Given the description of an element on the screen output the (x, y) to click on. 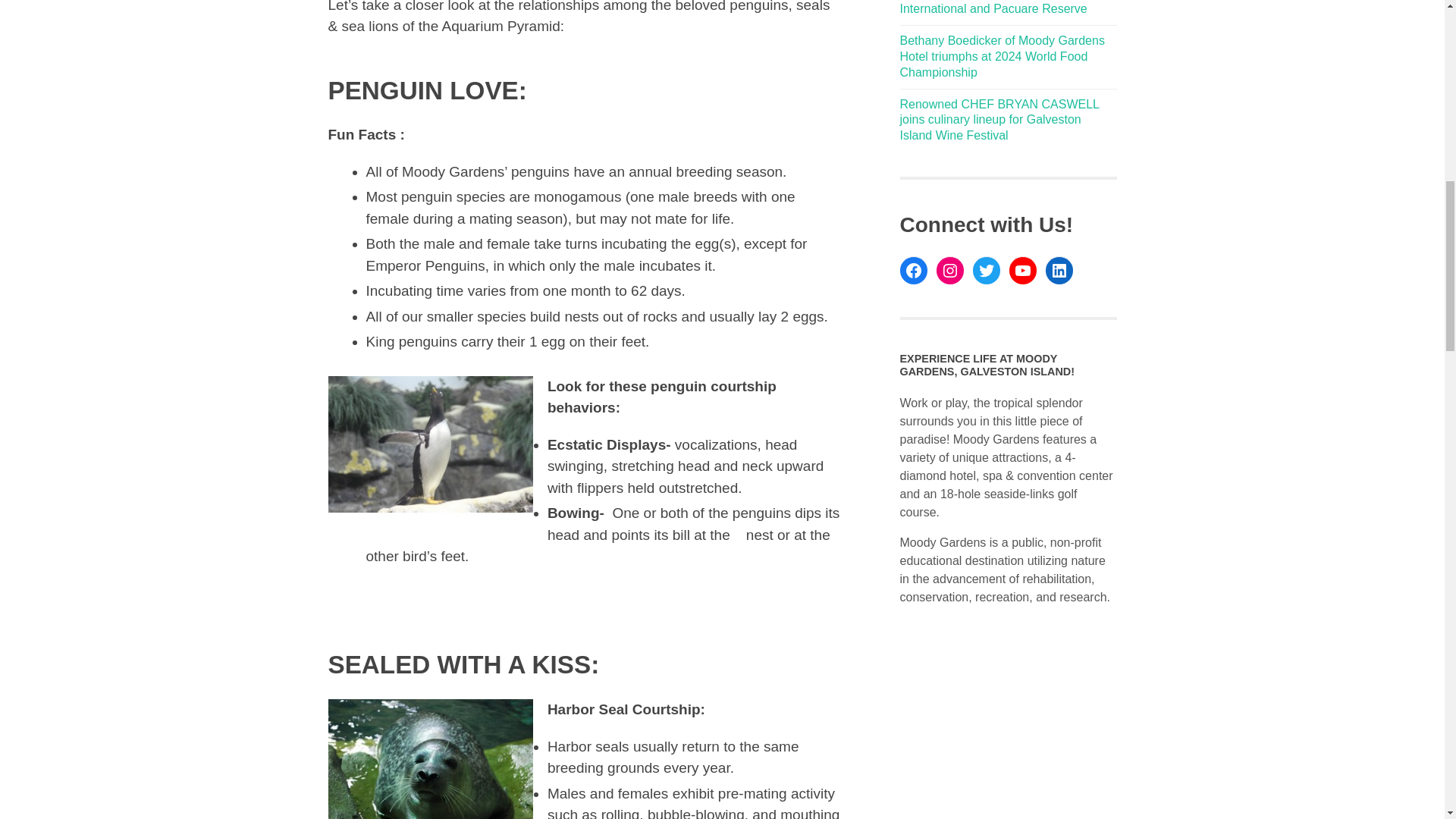
Facebook (912, 270)
LinkedIn (1058, 270)
Instagram (949, 270)
YouTube (1022, 270)
Twitter (985, 270)
